Given the description of an element on the screen output the (x, y) to click on. 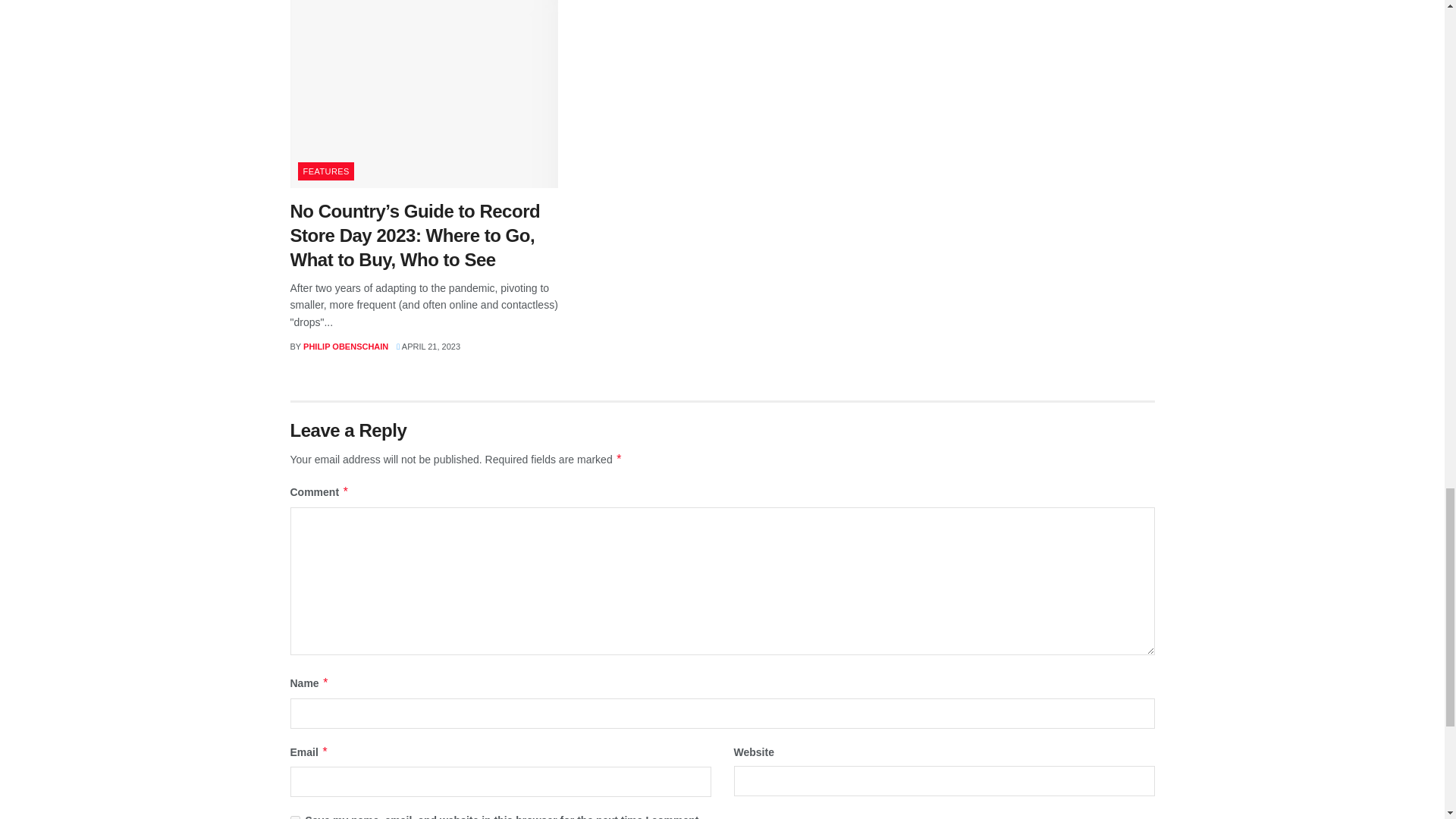
yes (294, 817)
